Given the description of an element on the screen output the (x, y) to click on. 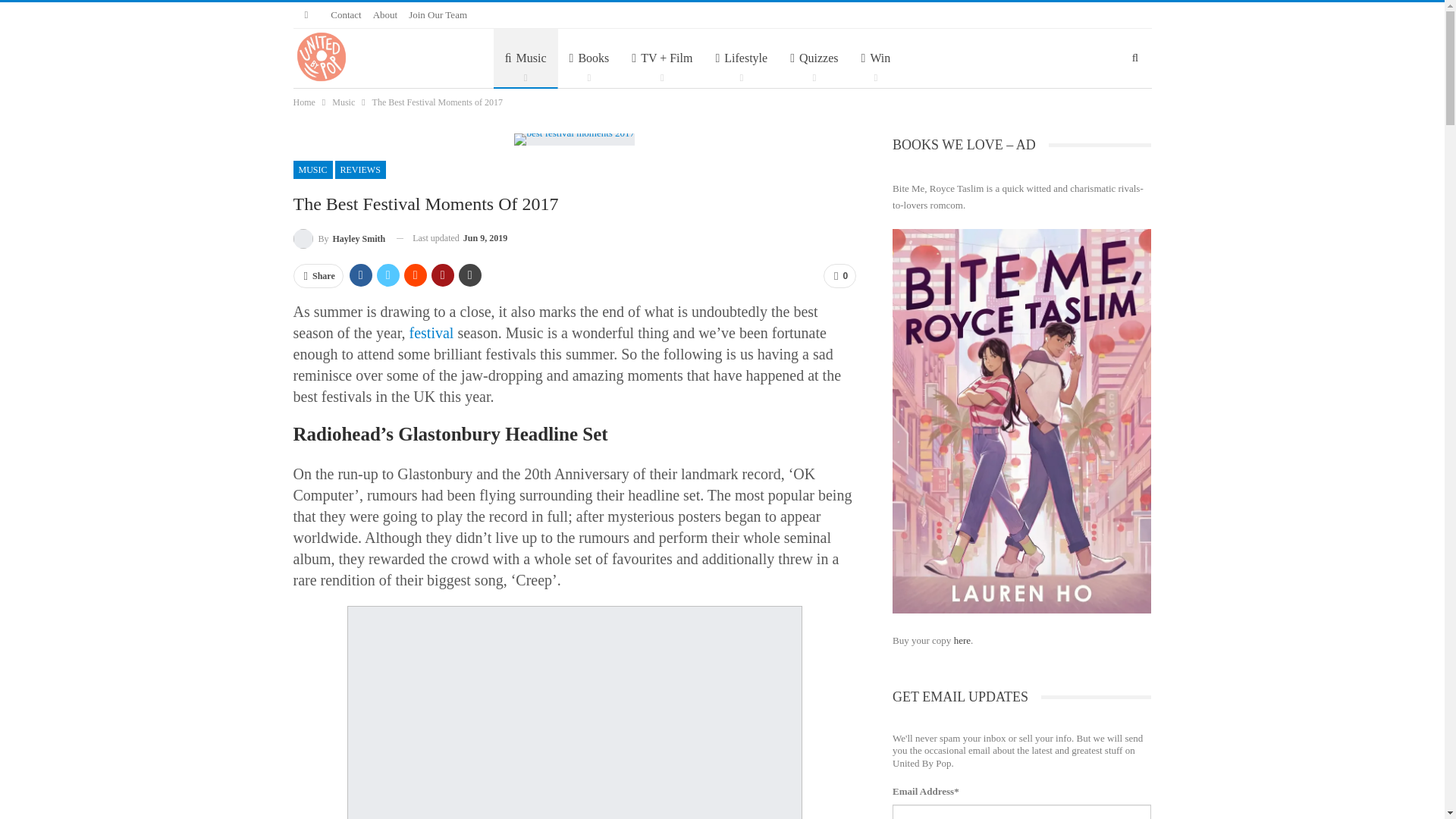
Join Our Team (438, 14)
Books (589, 57)
Music (525, 57)
Contact (345, 14)
About (384, 14)
Music (525, 57)
